Given the description of an element on the screen output the (x, y) to click on. 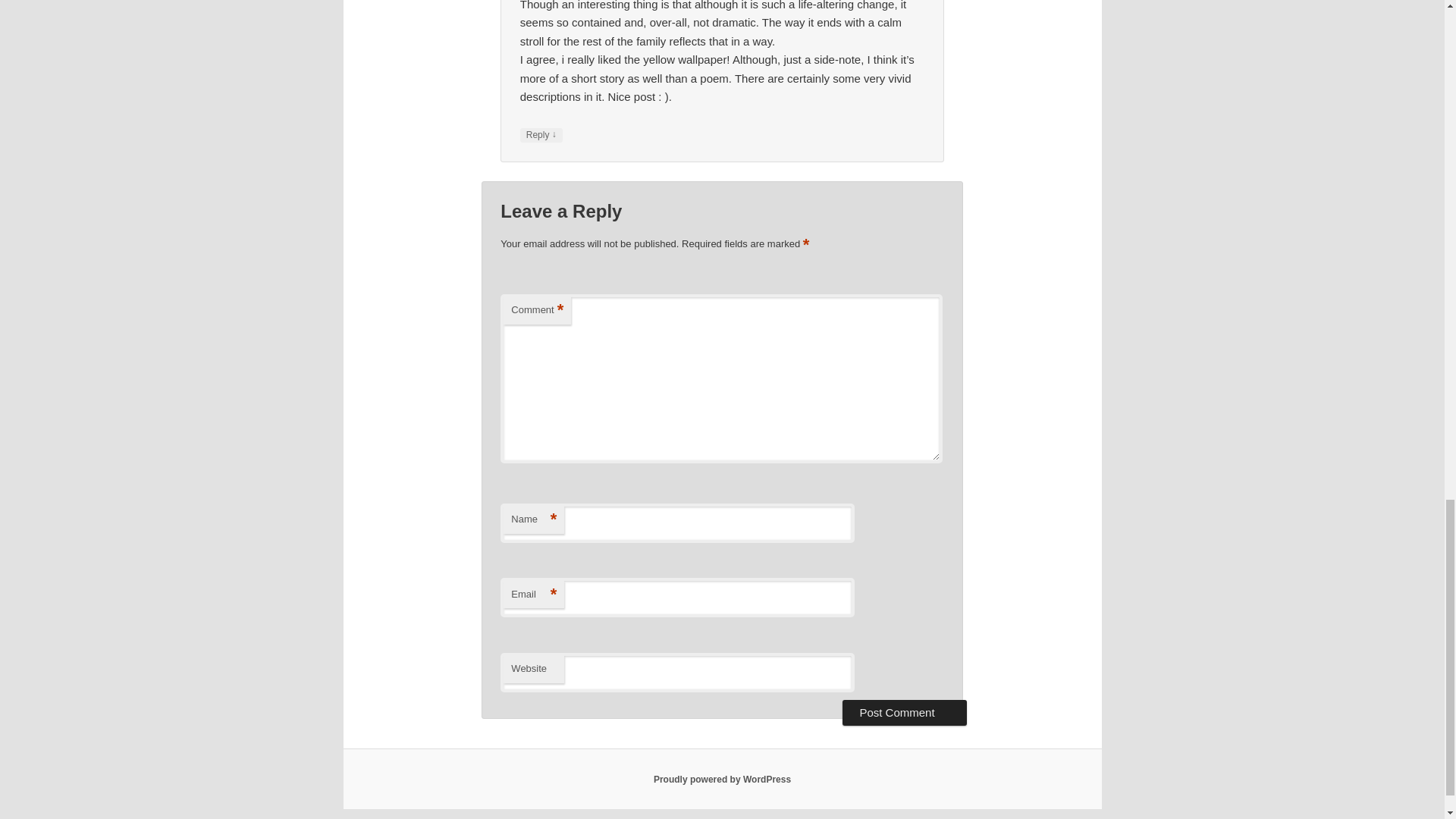
Post Comment (904, 712)
Proudly powered by WordPress (721, 778)
Post Comment (904, 712)
Semantic Personal Publishing Platform (721, 778)
